Given the description of an element on the screen output the (x, y) to click on. 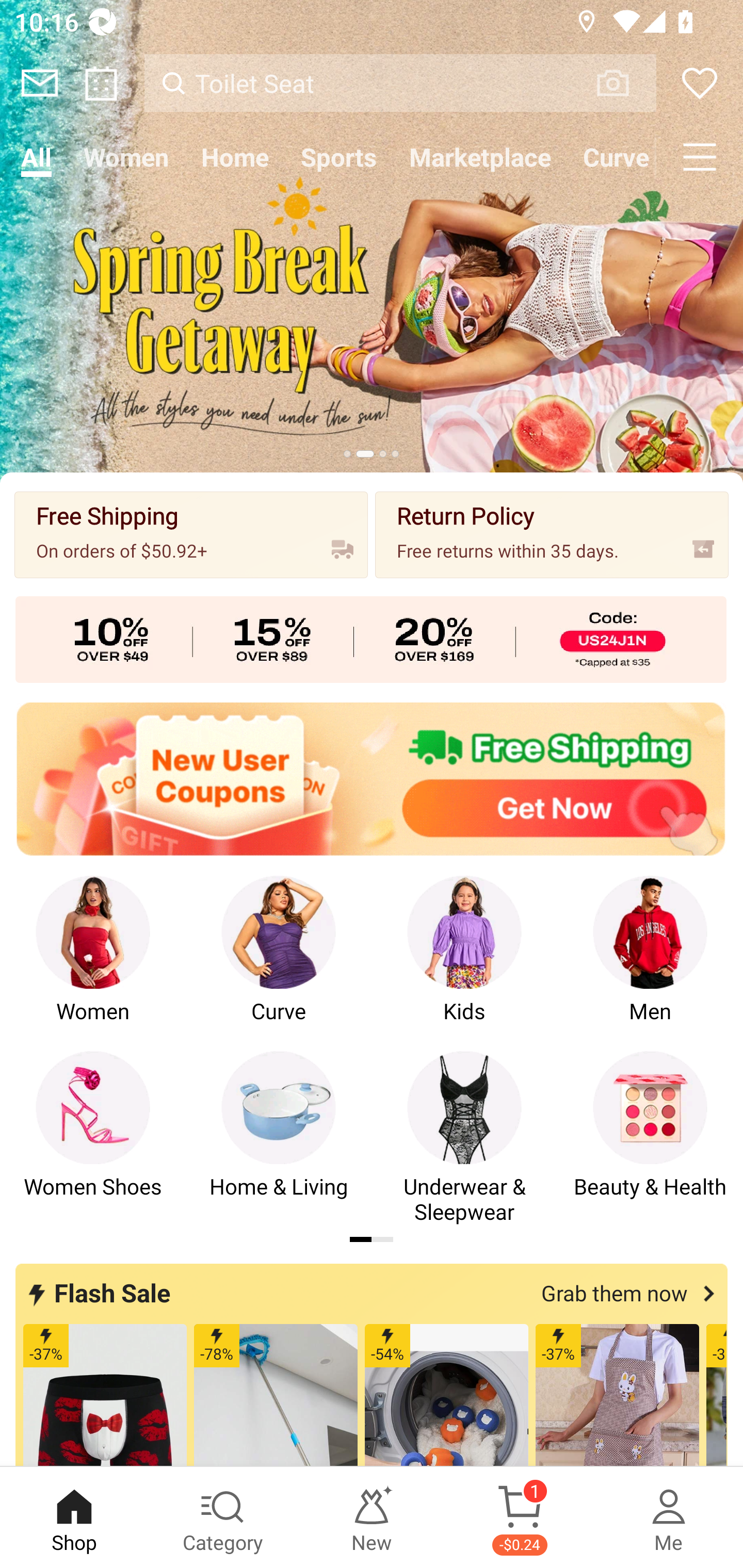
Wishlist (699, 82)
VISUAL SEARCH (623, 82)
All (36, 156)
Women (126, 156)
Home (234, 156)
Sports (338, 156)
Marketplace (479, 156)
Curve (611, 156)
Free Shipping On orders of $50.92+ (190, 534)
Return Policy Free returns within 35 days. (551, 534)
Women (92, 962)
Curve (278, 962)
Kids (464, 962)
Men (650, 962)
Women Shoes (92, 1138)
Home & Living (278, 1138)
Underwear & Sleepwear (464, 1138)
Beauty & Health (650, 1138)
Category (222, 1517)
New (371, 1517)
Cart 1 -$0.24 (519, 1517)
Me (668, 1517)
